Given the description of an element on the screen output the (x, y) to click on. 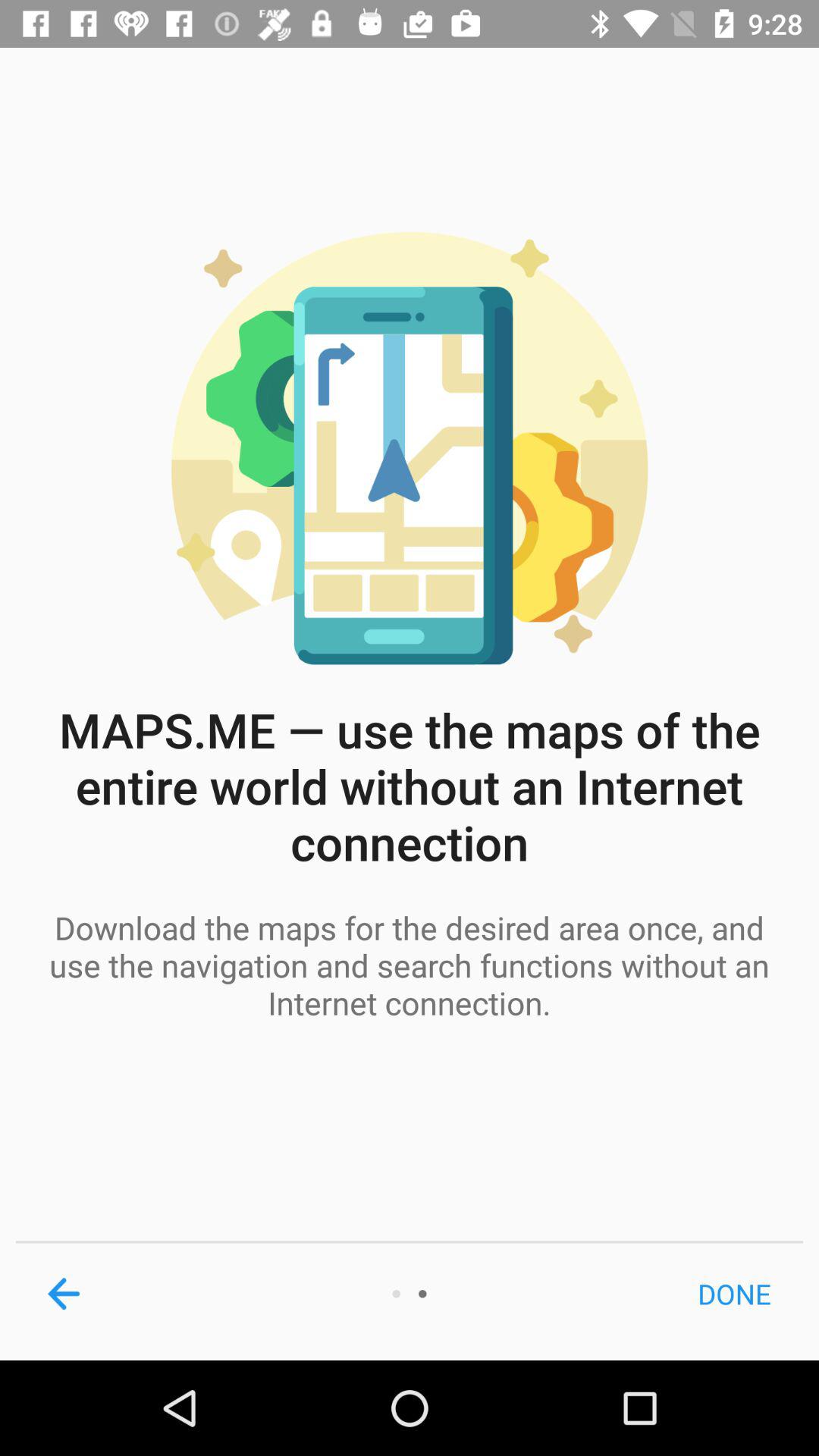
tap icon at the bottom left corner (63, 1293)
